Given the description of an element on the screen output the (x, y) to click on. 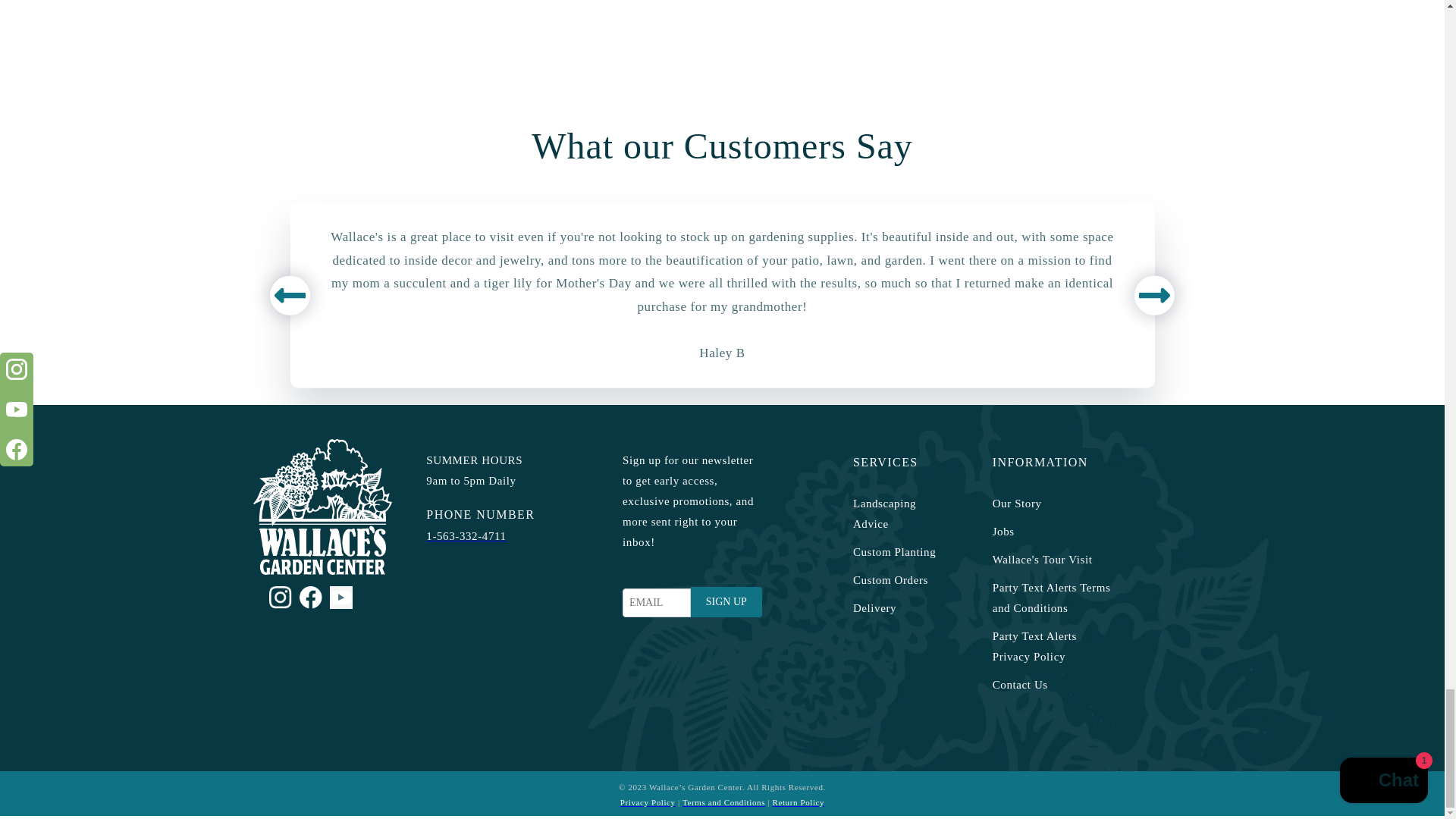
Facebook Footer Icon (310, 597)
Youtube Footer Icon (341, 597)
Wallaces Garden Center Footer Logo (323, 506)
Instagram Footer Icon (280, 597)
